Given the description of an element on the screen output the (x, y) to click on. 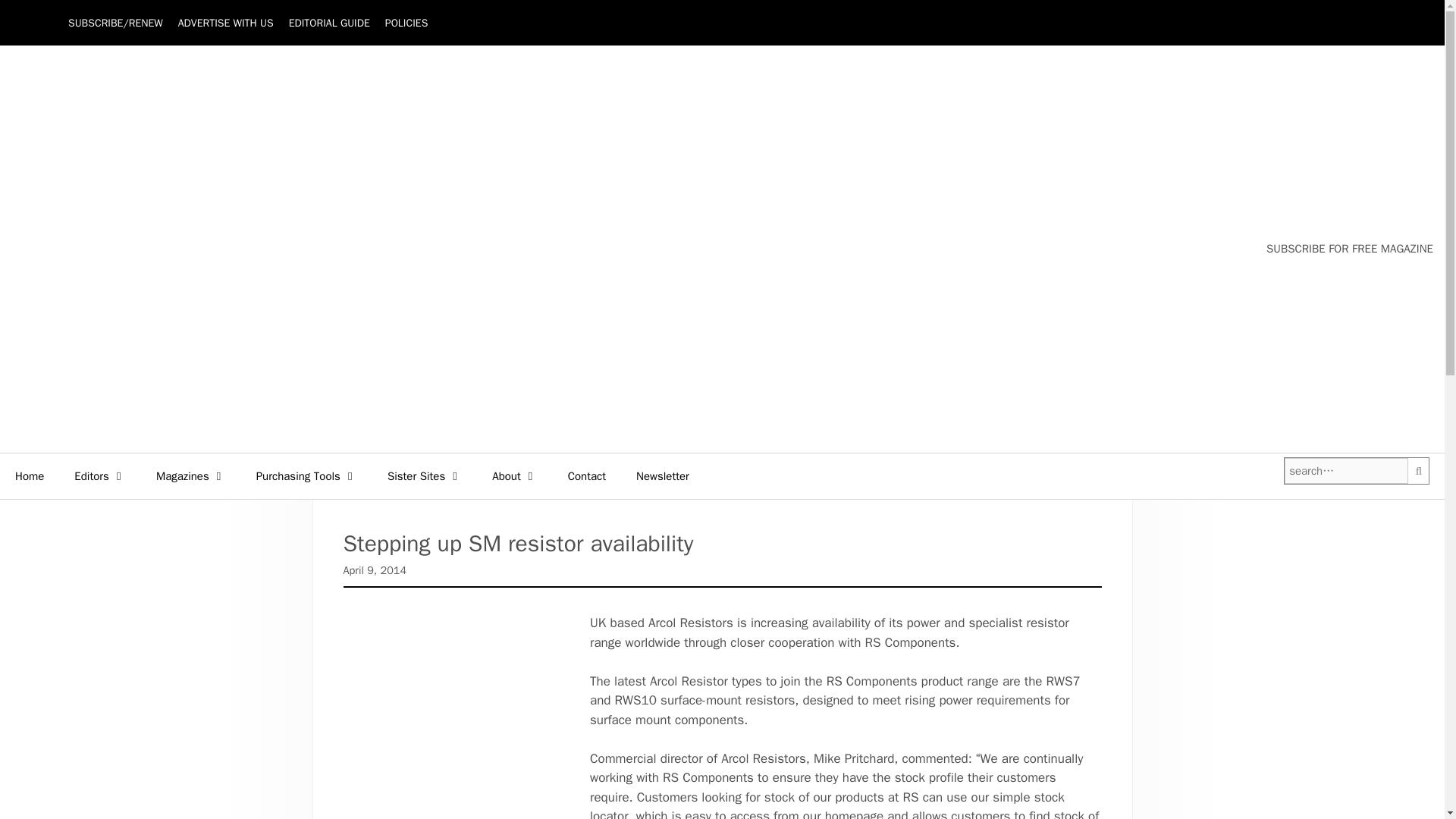
ADVERTISE WITH US (225, 22)
Search for: (1345, 470)
Home (29, 475)
Magazines (191, 475)
POLICIES (406, 22)
Contact (587, 475)
SUBSCRIBE FOR FREE MAGAZINE (1349, 248)
EDITORIAL GUIDE (328, 22)
Editors (100, 475)
Purchasing Tools (306, 475)
Sister Sites (424, 475)
Newsletter (662, 475)
About (514, 475)
